Given the description of an element on the screen output the (x, y) to click on. 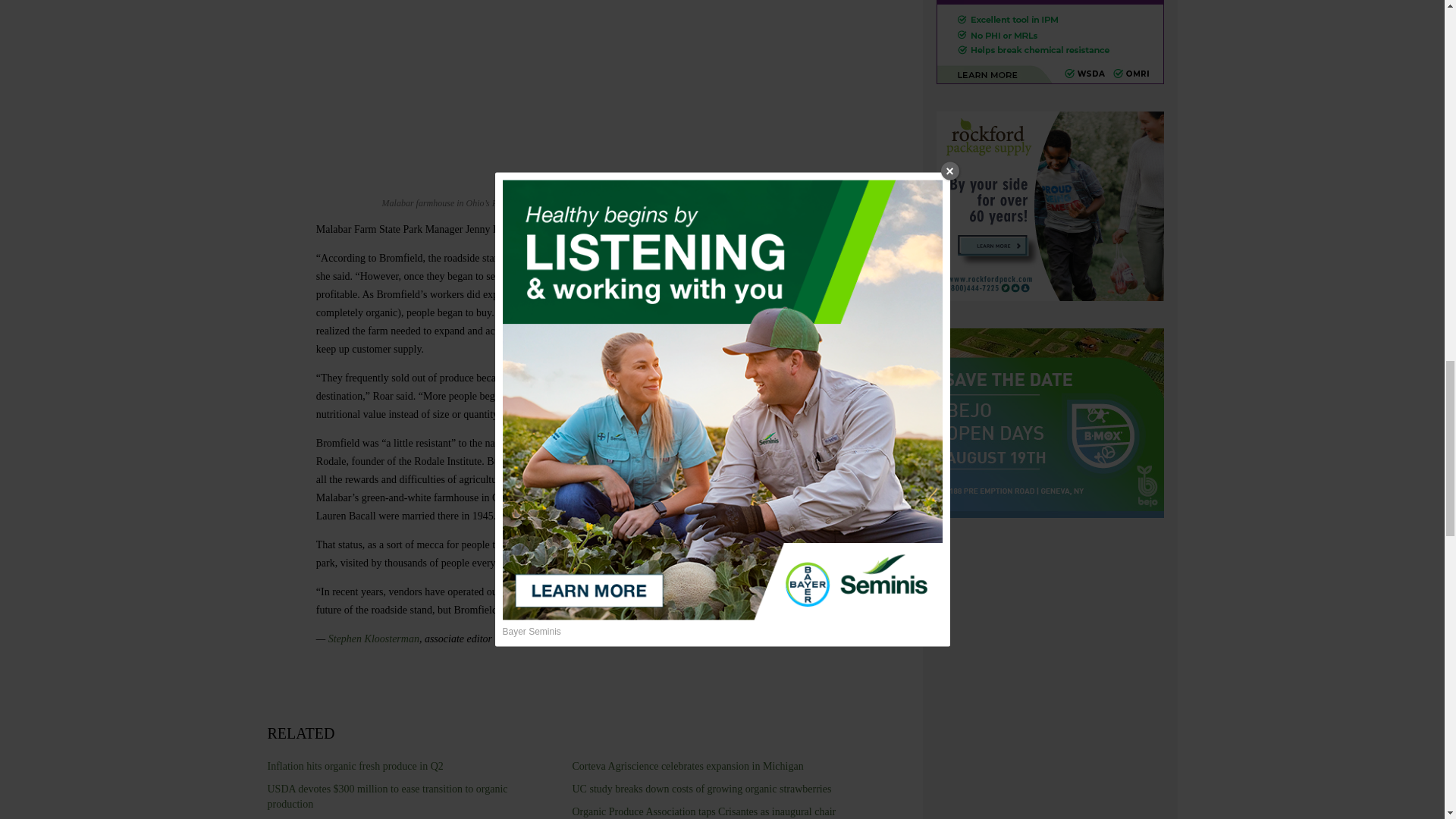
Rockford Package Supply (1049, 208)
Bejo Seeds (1049, 425)
SAN Agrow (1049, 44)
